Given the description of an element on the screen output the (x, y) to click on. 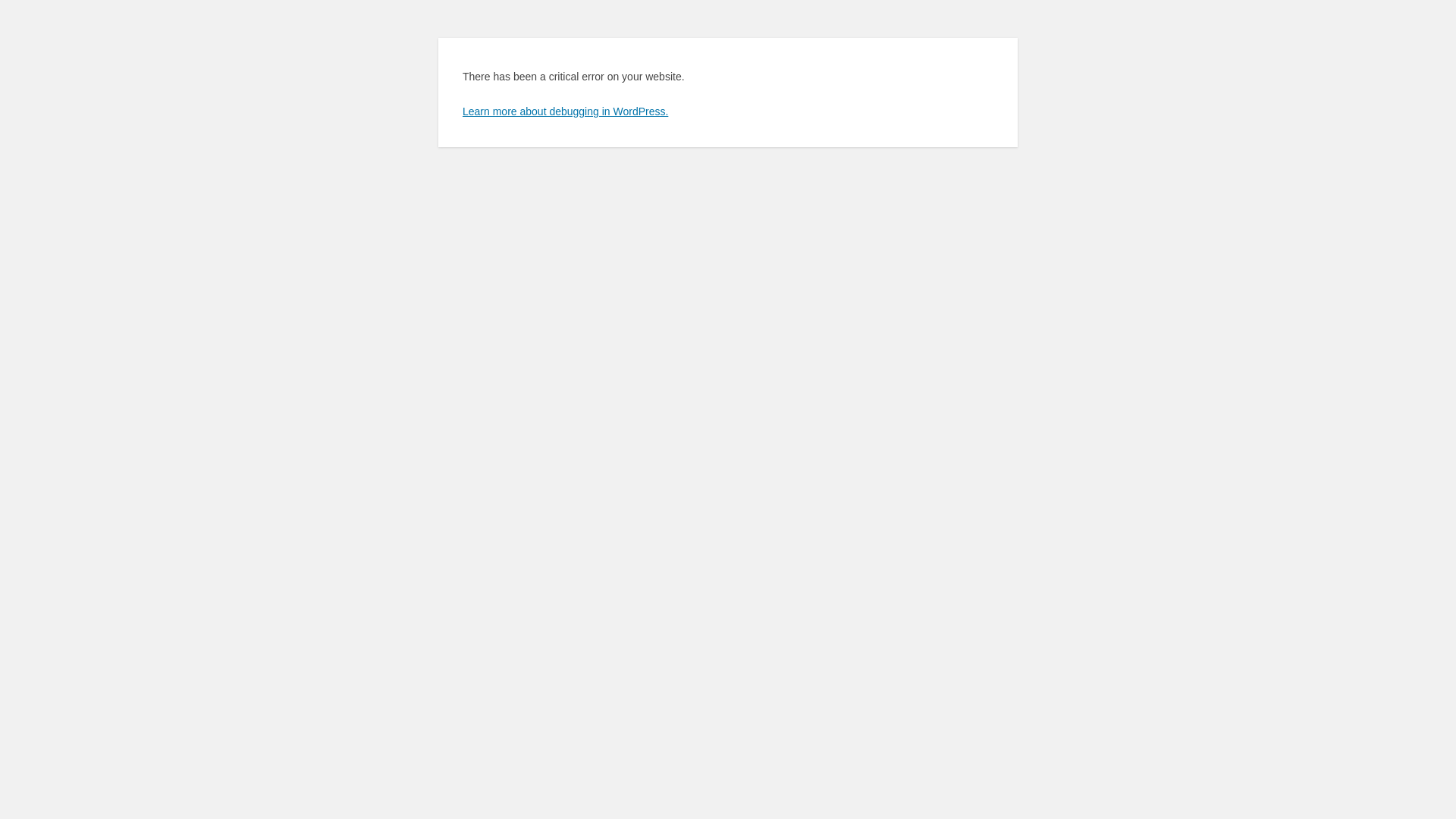
Learn more about debugging in WordPress. Element type: text (565, 111)
